Given the description of an element on the screen output the (x, y) to click on. 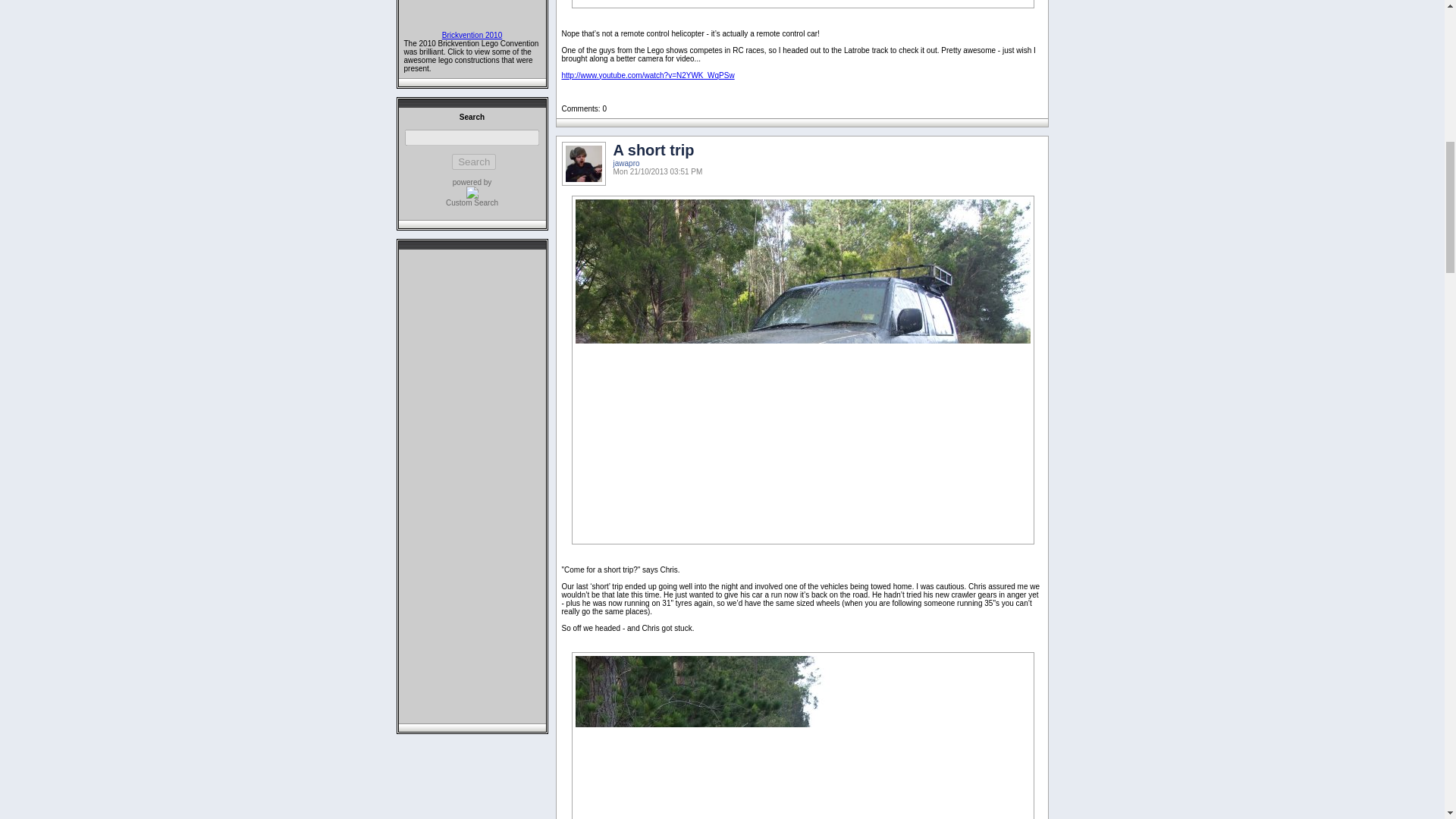
Search (473, 161)
Search (473, 161)
Brickvention 2010 (472, 35)
